Given the description of an element on the screen output the (x, y) to click on. 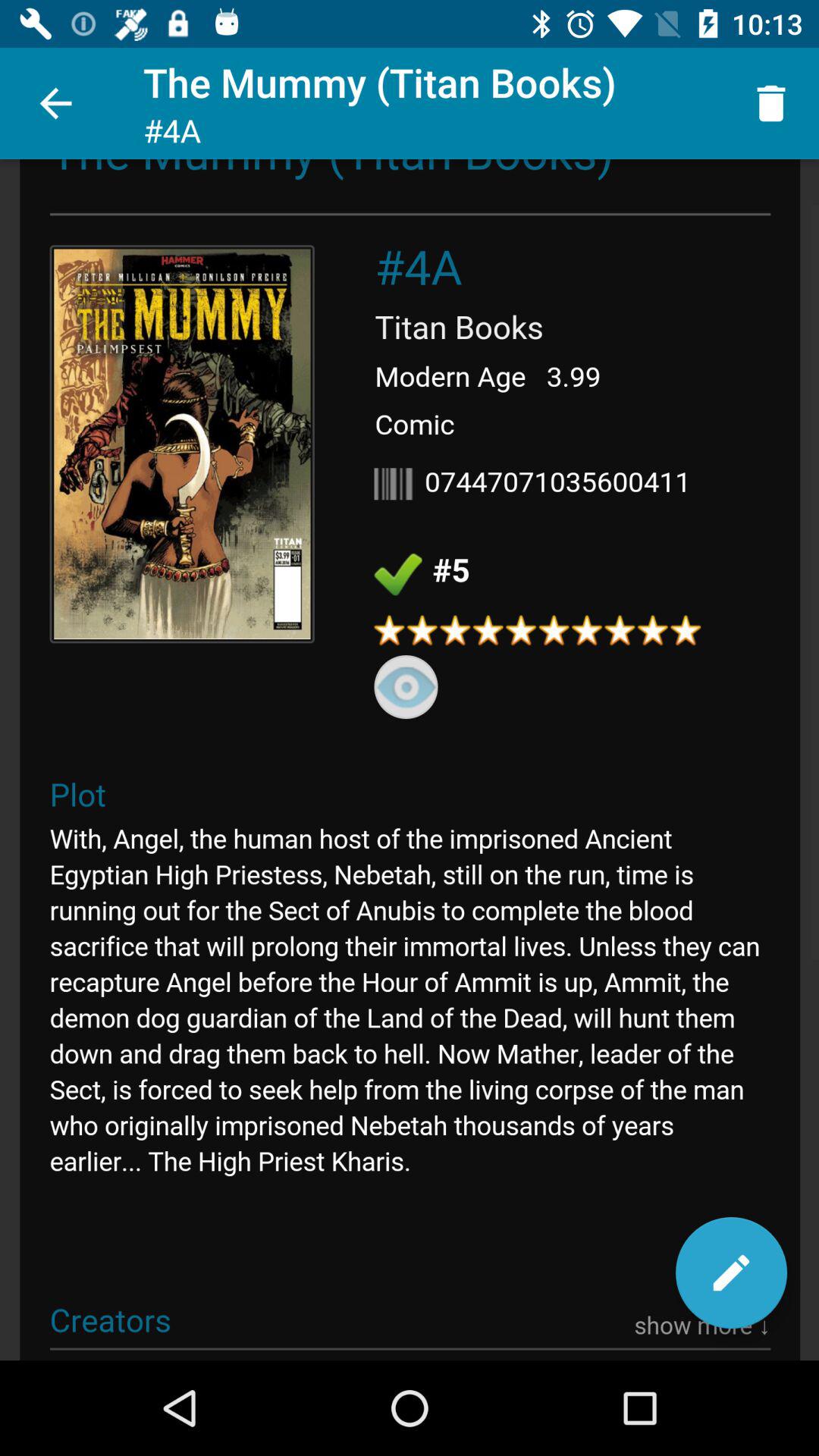
launch the icon next to the mummy titan (55, 103)
